Given the description of an element on the screen output the (x, y) to click on. 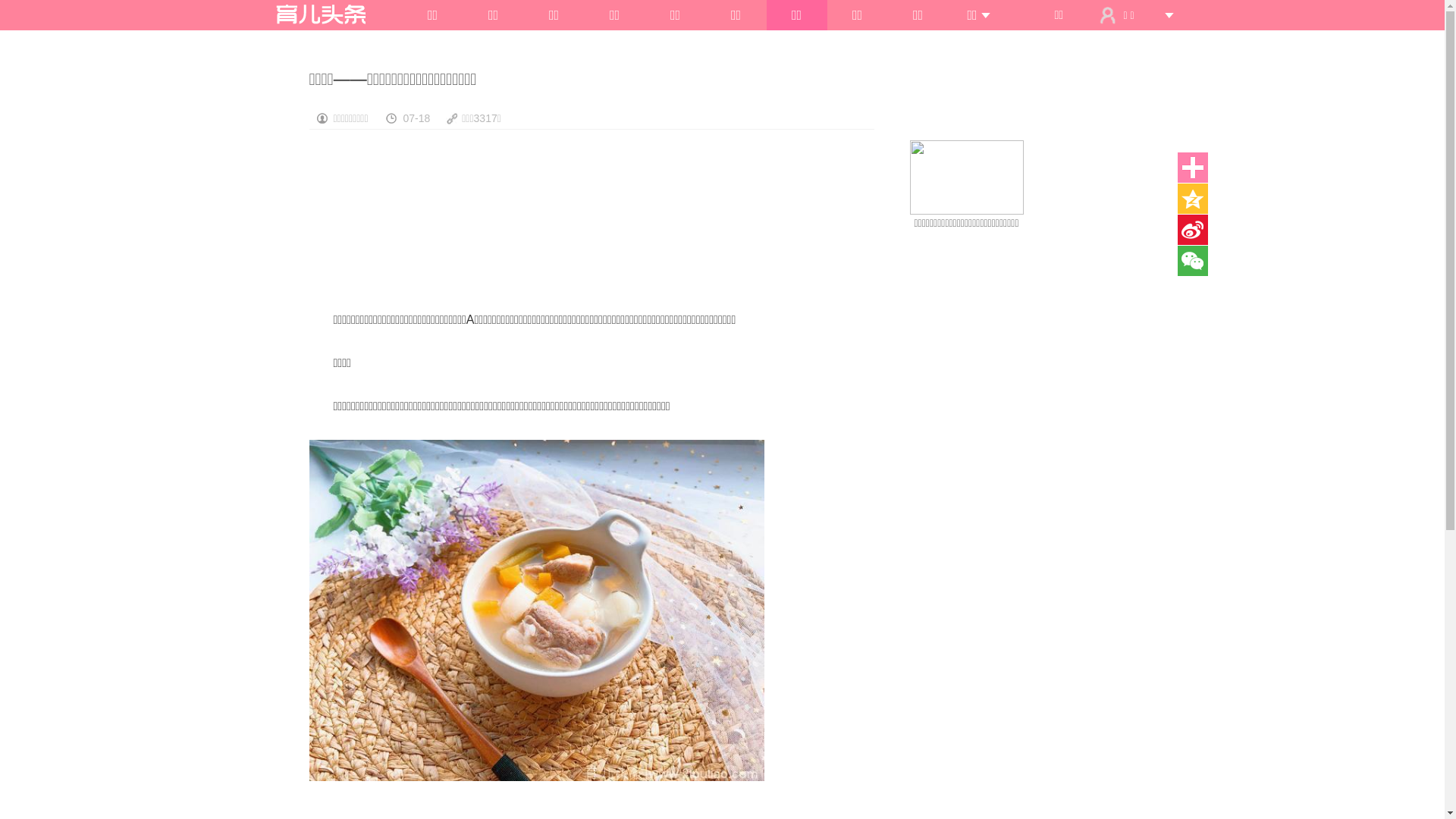
Advertisement Element type: hover (1030, 375)
Advertisement Element type: hover (591, 223)
